Given the description of an element on the screen output the (x, y) to click on. 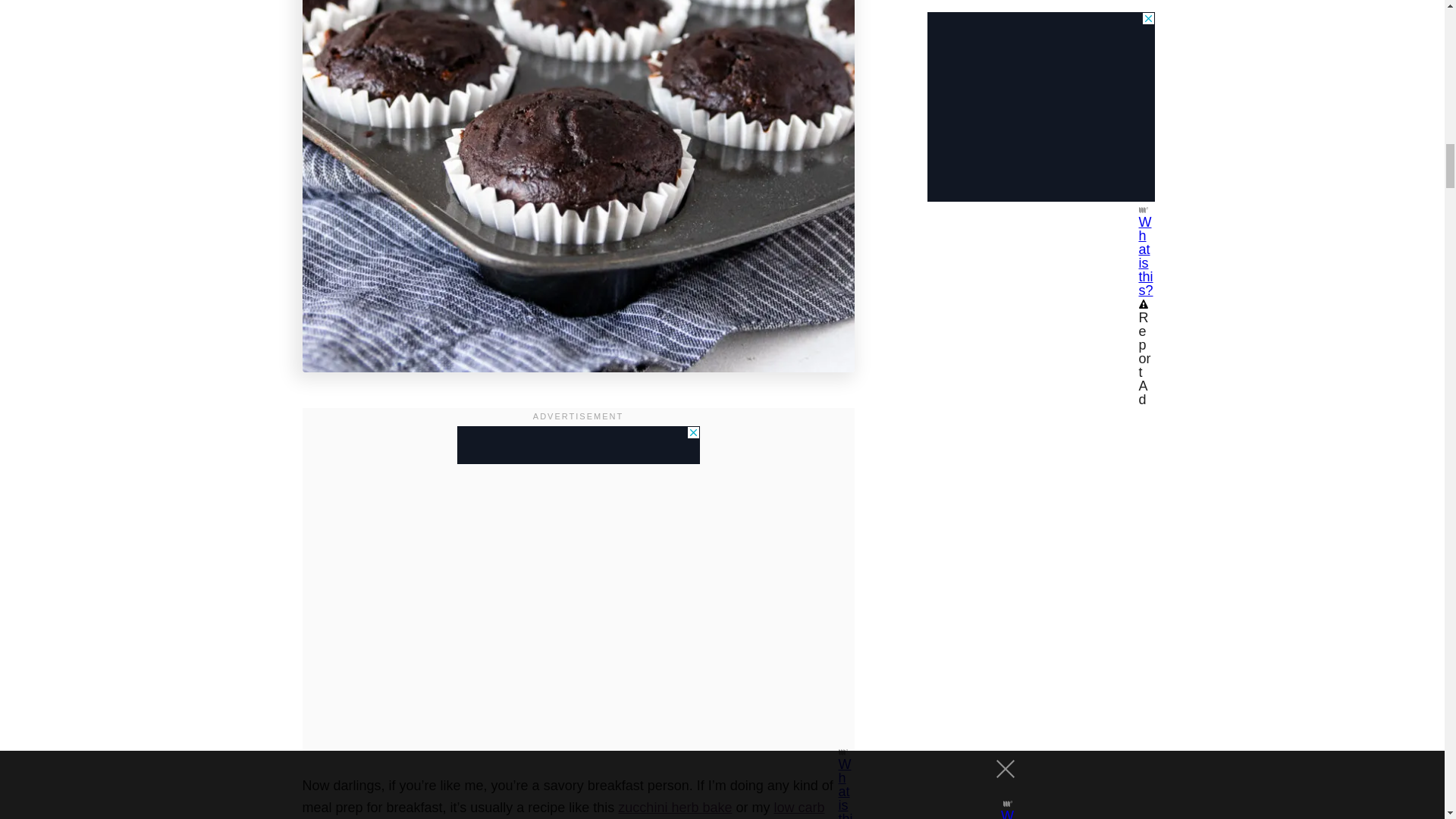
low carb breakfast bake (562, 809)
3rd party ad content (577, 444)
zucchini herb bake (674, 807)
